Given the description of an element on the screen output the (x, y) to click on. 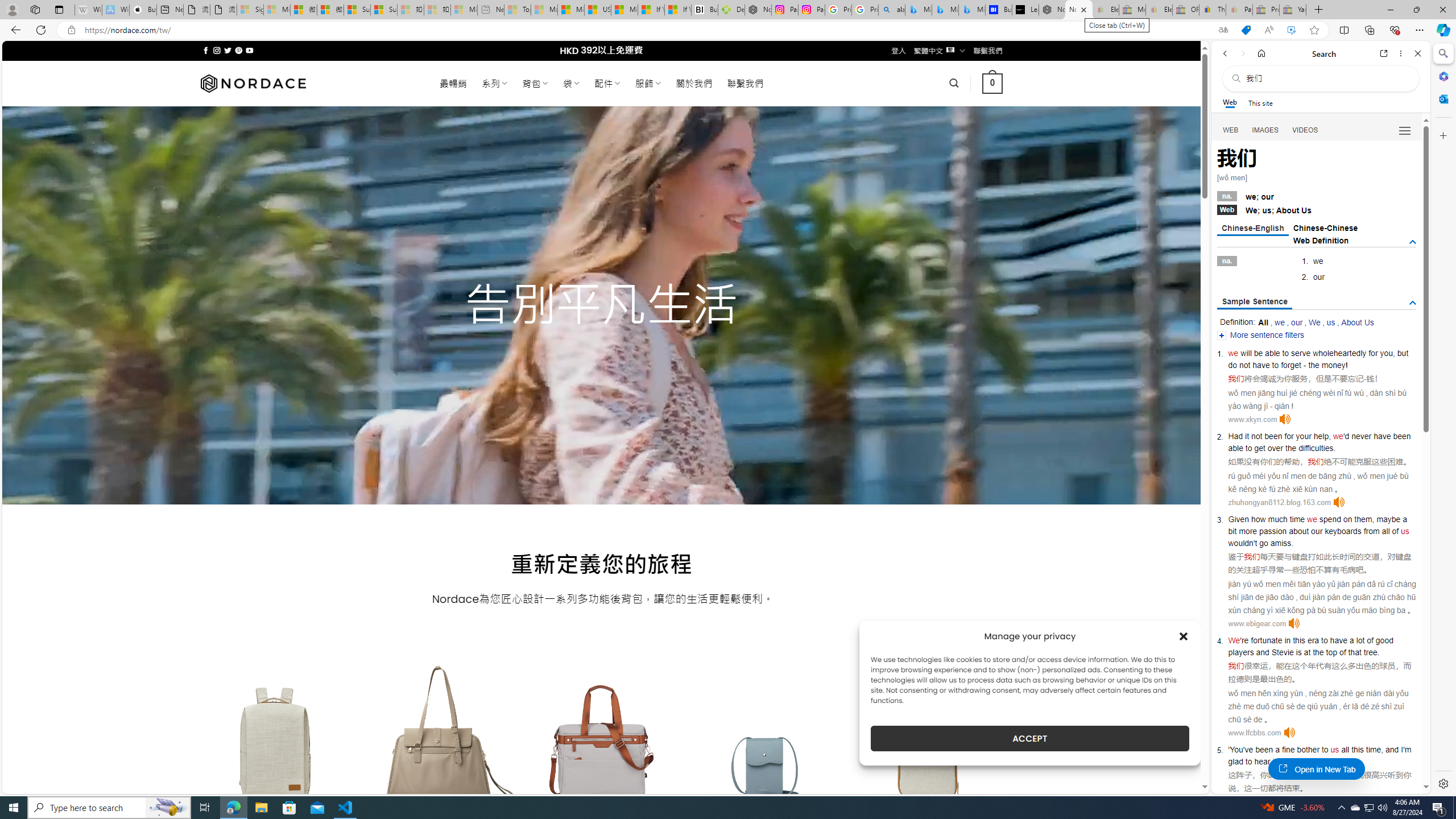
will (1246, 352)
na.we; our (1316, 195)
Class: cmplz-close (1183, 636)
ACCEPT (1029, 738)
Web Definition (1321, 240)
be (1258, 352)
About Us (1357, 322)
Show translate options (1222, 29)
you (1386, 352)
